Given the description of an element on the screen output the (x, y) to click on. 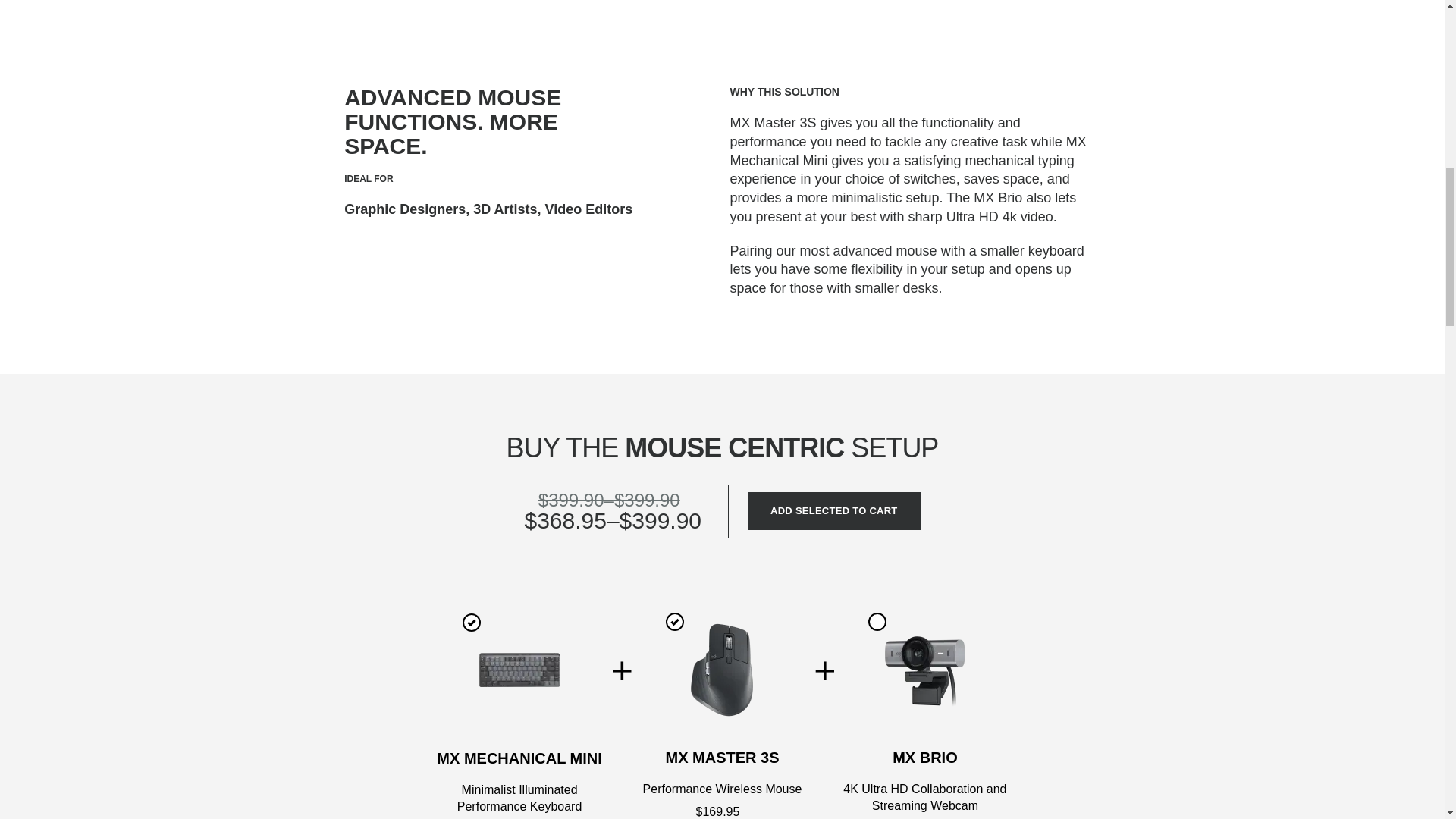
Toggle product selection (674, 621)
Toggle product selection (471, 622)
Toggle product selection (876, 621)
